Given the description of an element on the screen output the (x, y) to click on. 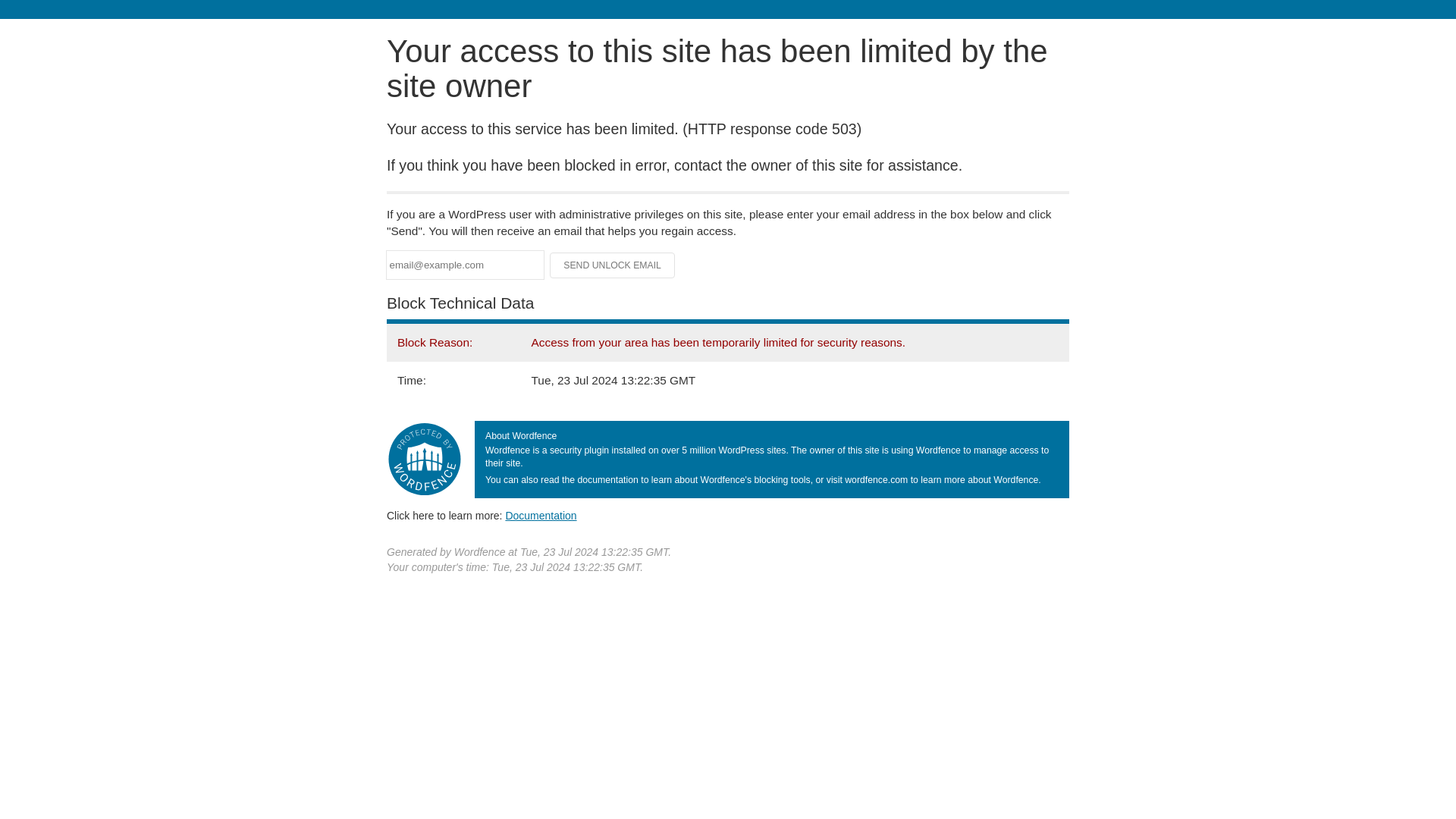
Send Unlock Email (612, 265)
Send Unlock Email (612, 265)
Documentation (540, 515)
